Given the description of an element on the screen output the (x, y) to click on. 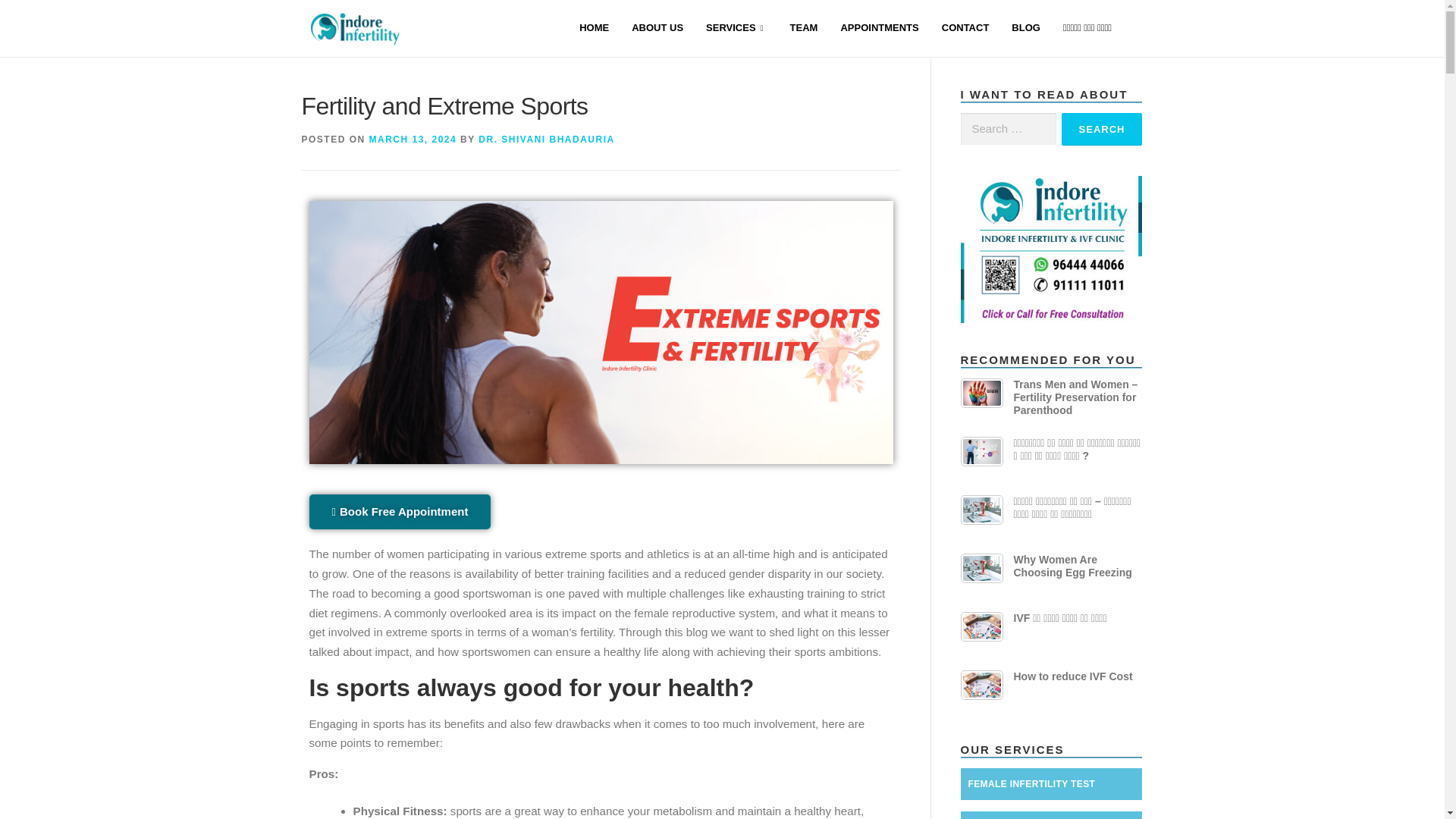
ABOUT US (657, 28)
CONTACT (965, 28)
Search (1101, 129)
TEAM (803, 28)
SERVICES (736, 28)
APPOINTMENTS (879, 28)
Search (1101, 129)
HOME (593, 28)
BLOG (1025, 28)
